Given the description of an element on the screen output the (x, y) to click on. 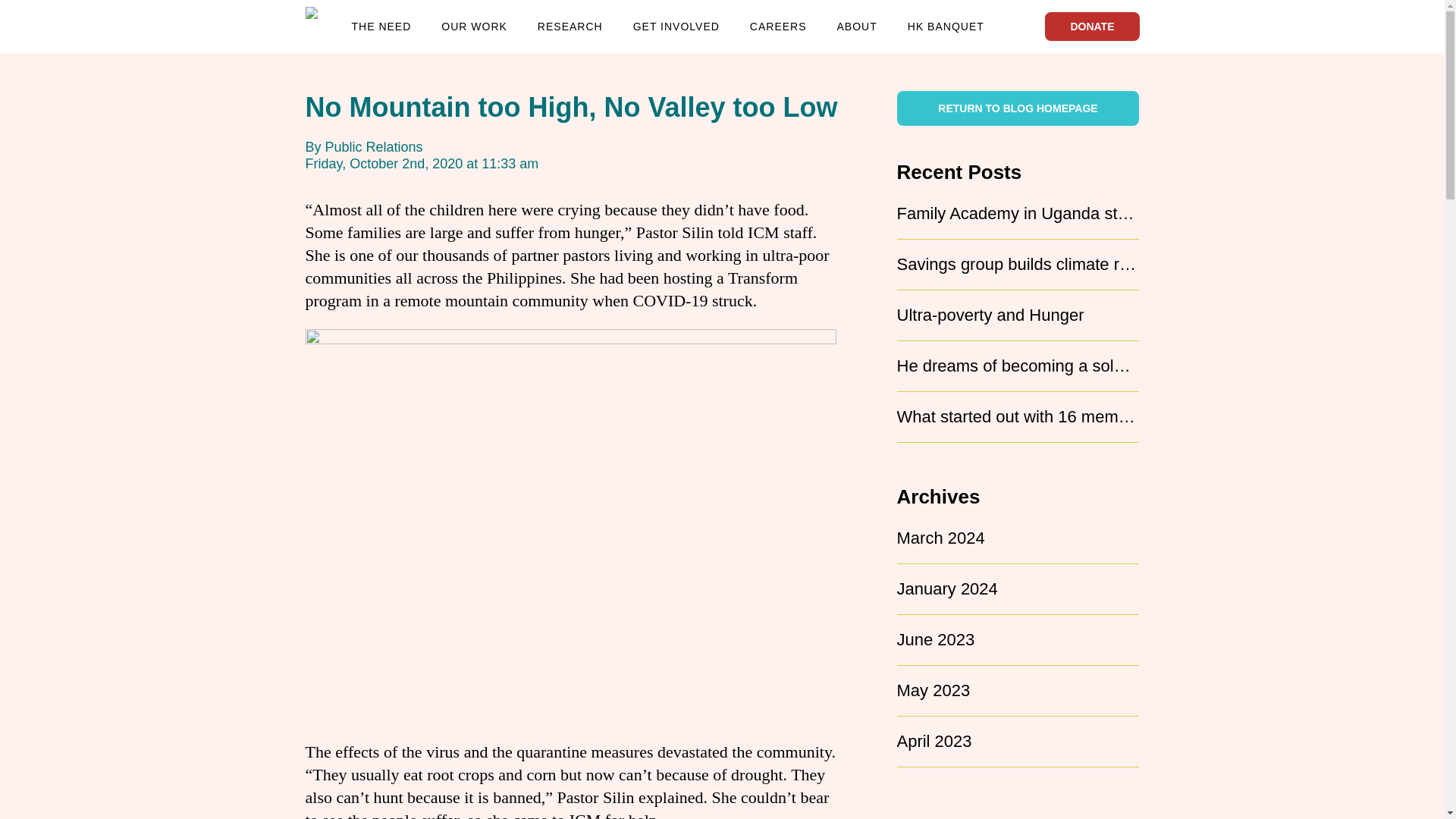
RETURN TO BLOG HOMEPAGE (1017, 108)
RESEARCH (569, 26)
June 2023 (935, 639)
January 2024 (946, 588)
THE NEED (382, 26)
May 2023 (932, 690)
HK BANQUET (945, 26)
GET INVOLVED (676, 26)
OUR WORK (473, 26)
Family Academy in Uganda starts now! (1040, 212)
CAREERS (777, 26)
Ultra-poverty and Hunger (989, 314)
April 2023 (933, 741)
March 2024 (940, 537)
